Given the description of an element on the screen output the (x, y) to click on. 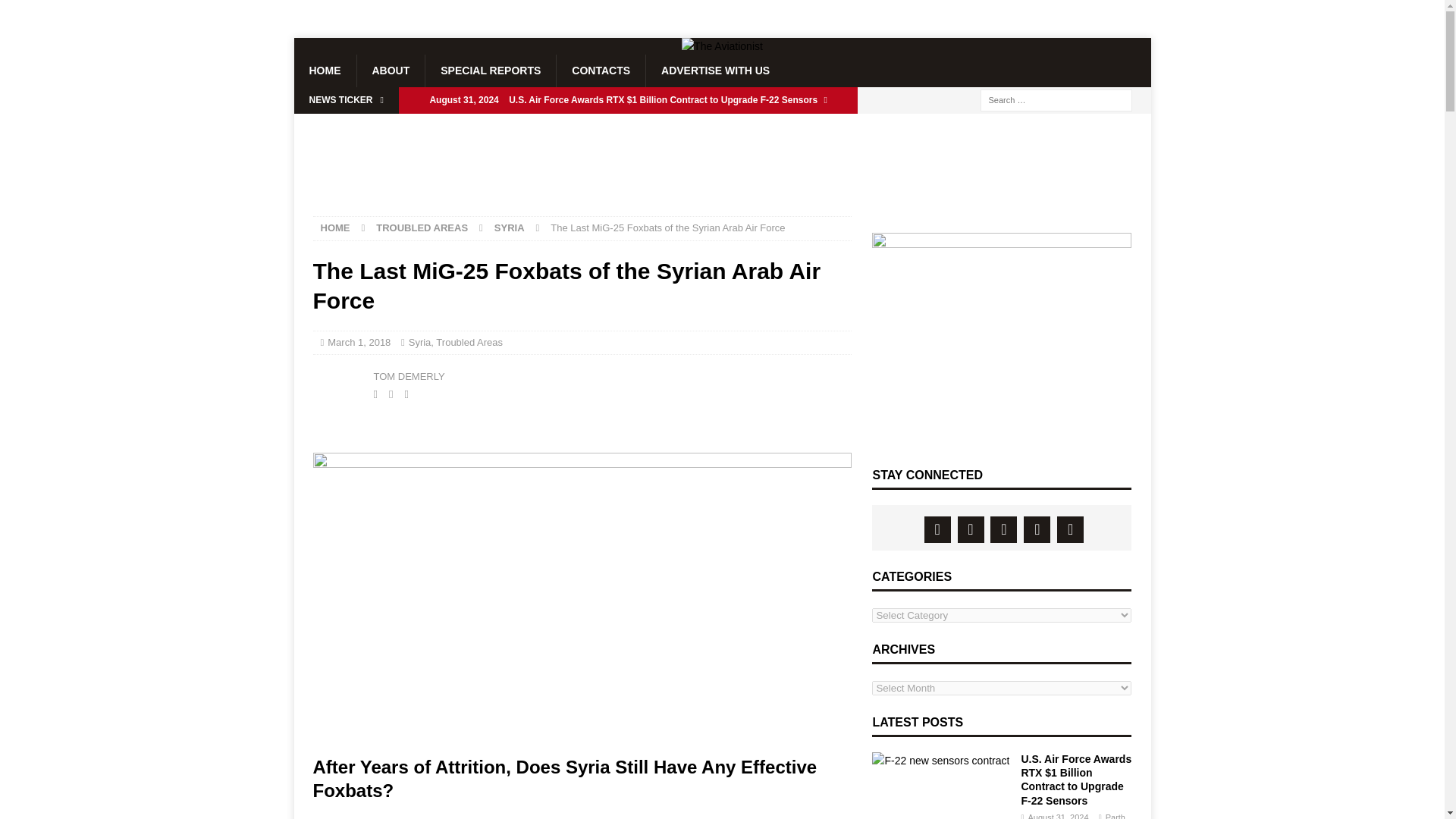
CONTACTS (600, 70)
HOME (325, 70)
SPECIAL REPORTS (490, 70)
TOM DEMERLY (408, 376)
The Aviationist (721, 46)
Troubled Areas (468, 342)
HOME (334, 227)
Search (56, 11)
SYRIA (509, 227)
March 1, 2018 (358, 342)
